Given the description of an element on the screen output the (x, y) to click on. 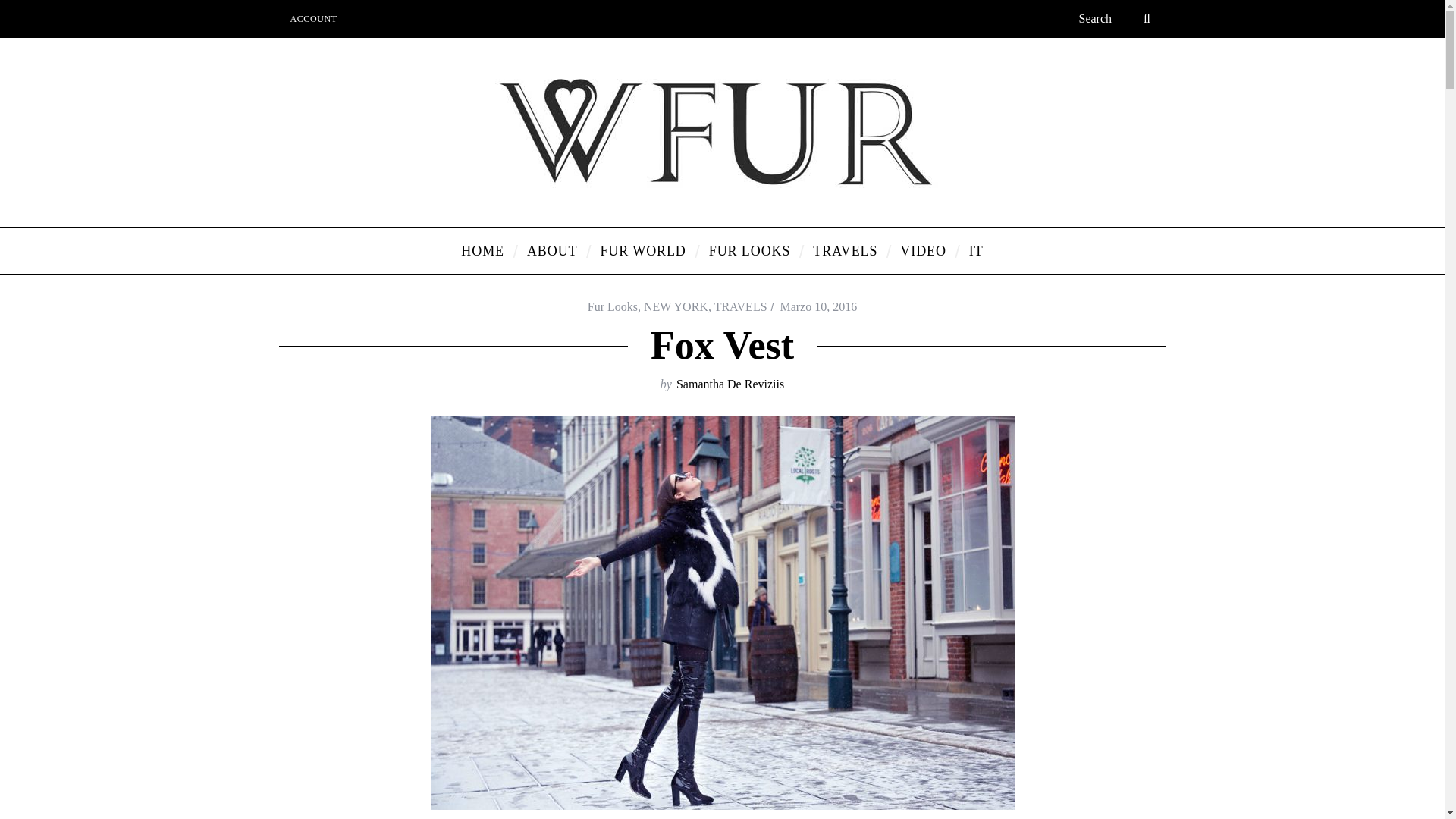
ACCOUNT (314, 18)
HOME (482, 250)
ABOUT (552, 250)
Search (1116, 18)
